Given the description of an element on the screen output the (x, y) to click on. 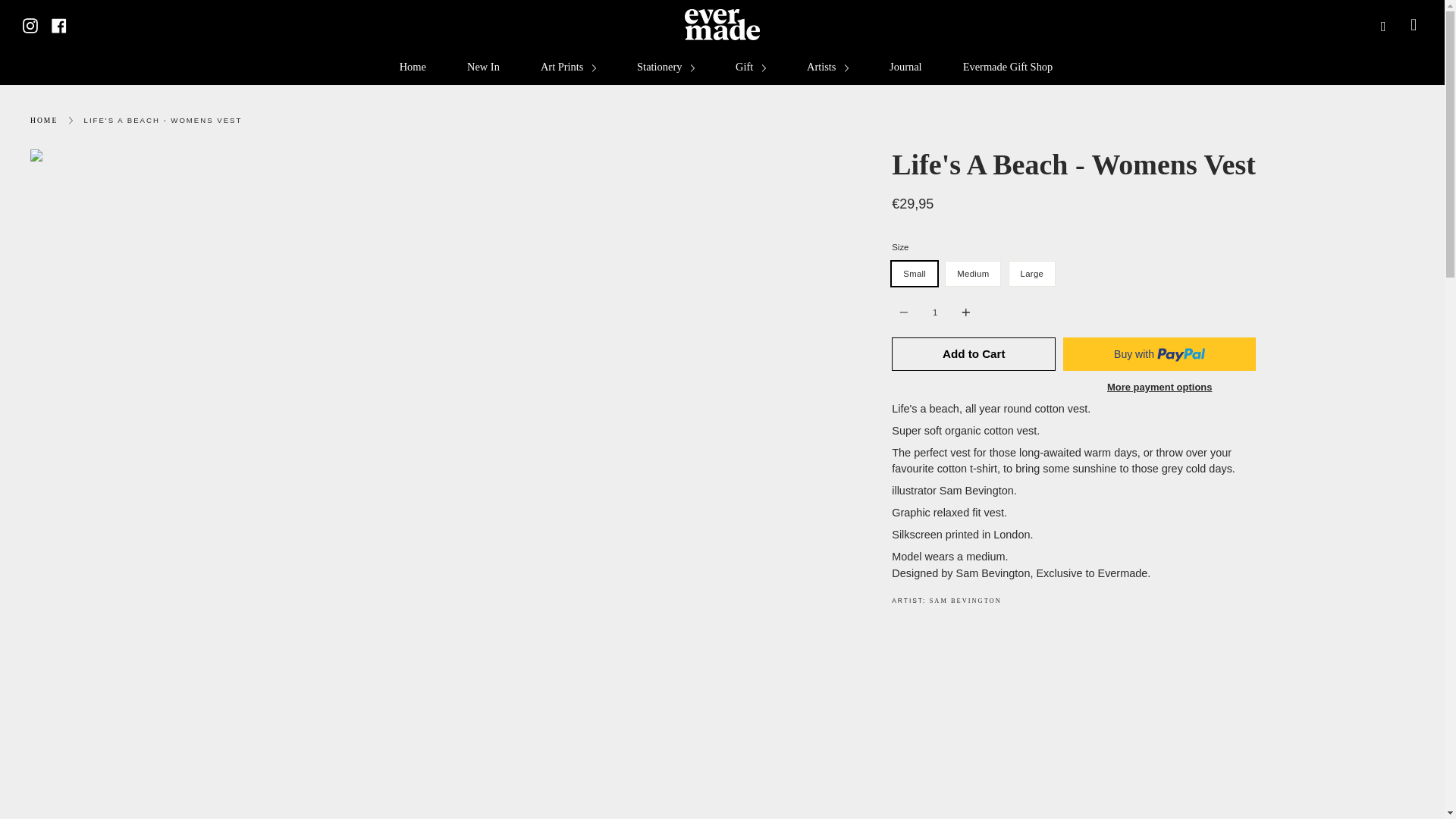
Art Prints (568, 66)
1 (934, 312)
Home (412, 66)
Evermade on Facebook (58, 23)
Instagram (30, 23)
New In (483, 66)
Stationery (665, 66)
Evermade on Instagram (30, 23)
Facebook (58, 23)
